Given the description of an element on the screen output the (x, y) to click on. 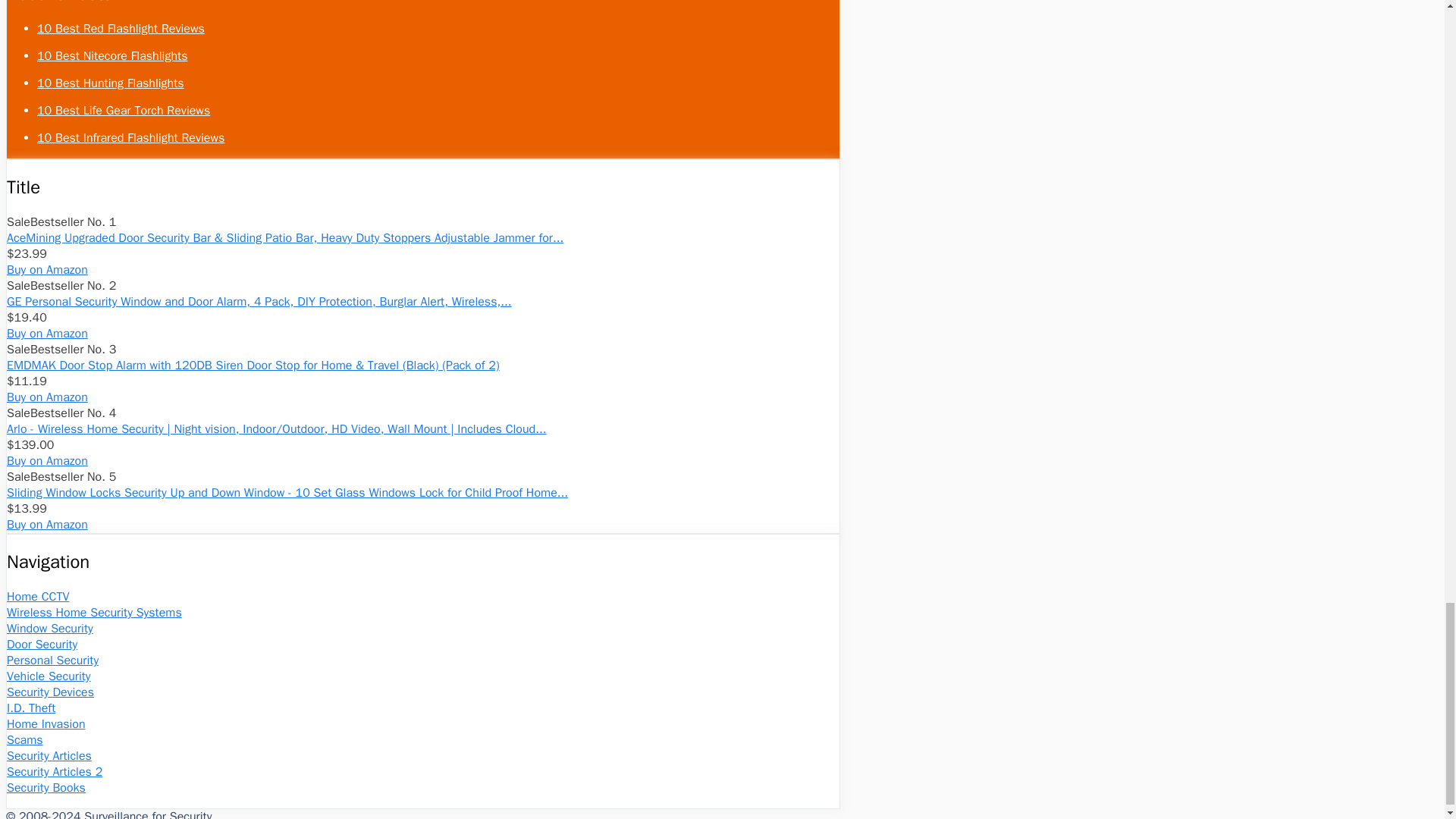
Buy on Amazon (47, 333)
10 Best Life Gear Torch Reviews (123, 110)
10 Best Infrared Flashlight Reviews (130, 137)
Buy on Amazon (47, 269)
10 Best Red Flashlight Reviews (121, 28)
10 Best Nitecore Flashlights (112, 55)
Buy on Amazon (47, 269)
Buy on Amazon (47, 333)
Buy on Amazon (47, 396)
